Given the description of an element on the screen output the (x, y) to click on. 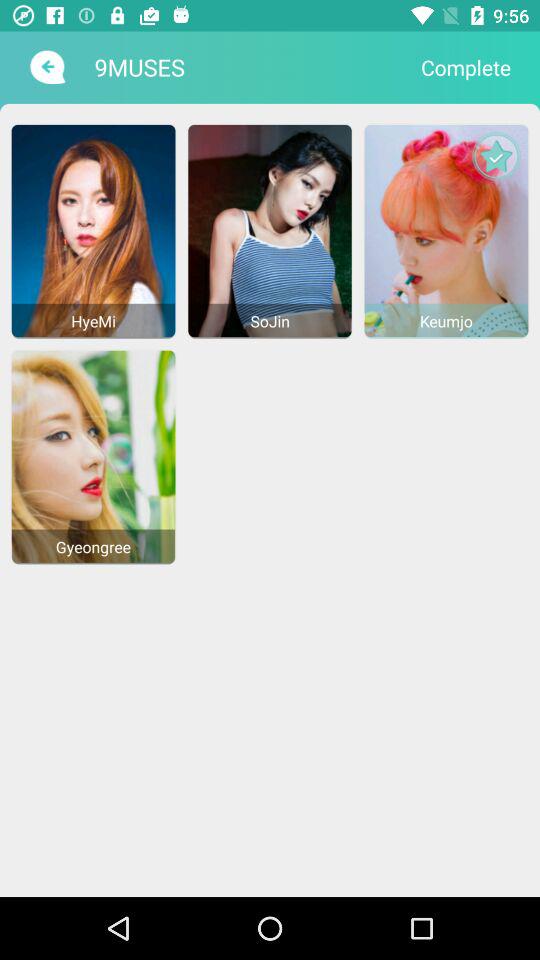
tap complete (465, 67)
